Given the description of an element on the screen output the (x, y) to click on. 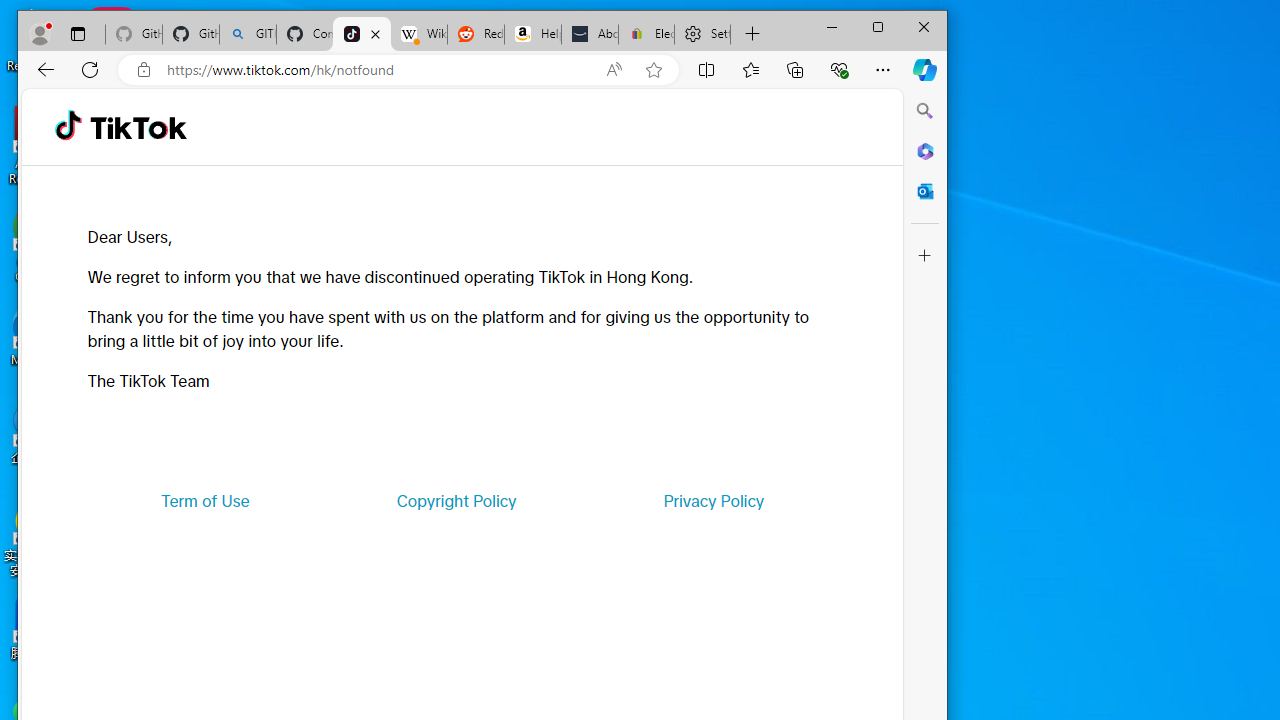
TikTok (138, 126)
Privacy Policy (713, 500)
About Amazon (589, 34)
GITHUB - Search (248, 34)
